Given the description of an element on the screen output the (x, y) to click on. 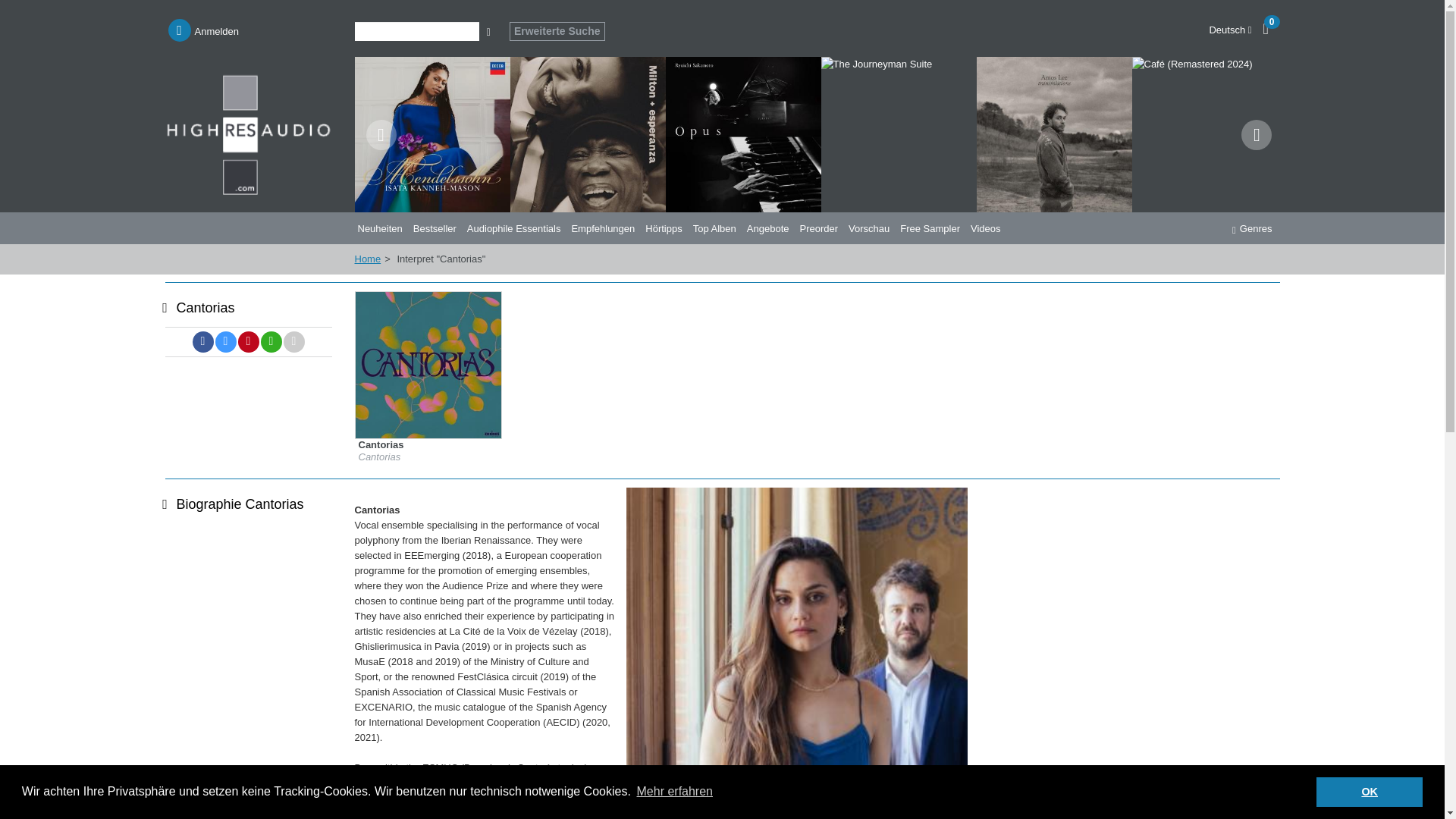
Share via Email (293, 341)
Anmelden (204, 30)
Free Sampler (932, 228)
Top Alben (717, 228)
Share on Twitter (225, 341)
0 (1273, 27)
Angebote (770, 228)
Neuheiten (382, 228)
Anmelden (204, 30)
Mehr erfahren (673, 791)
